Given the description of an element on the screen output the (x, y) to click on. 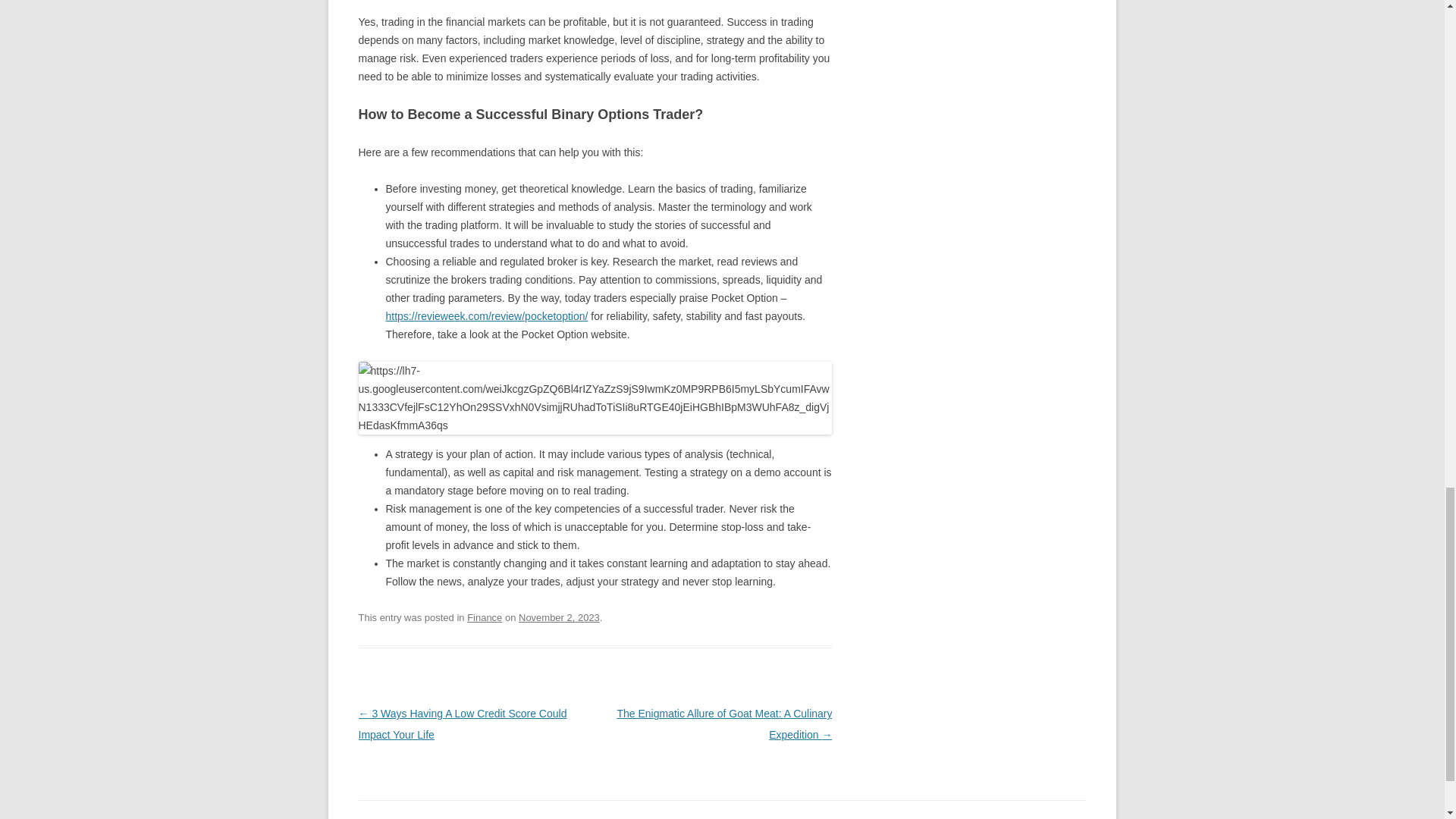
Finance (484, 617)
6:42 am (558, 617)
November 2, 2023 (558, 617)
